Given the description of an element on the screen output the (x, y) to click on. 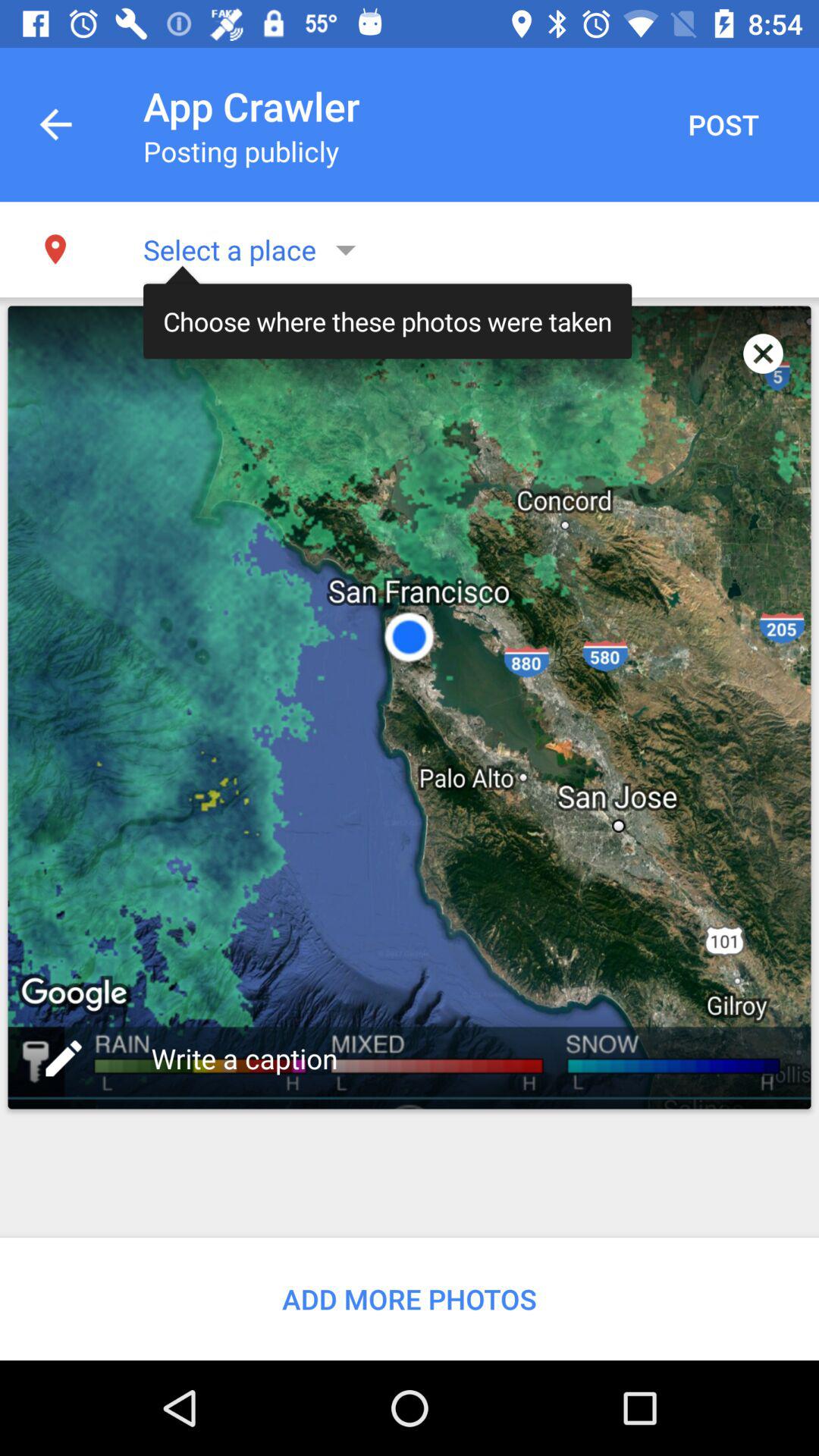
flip until the post button (723, 124)
